Given the description of an element on the screen output the (x, y) to click on. 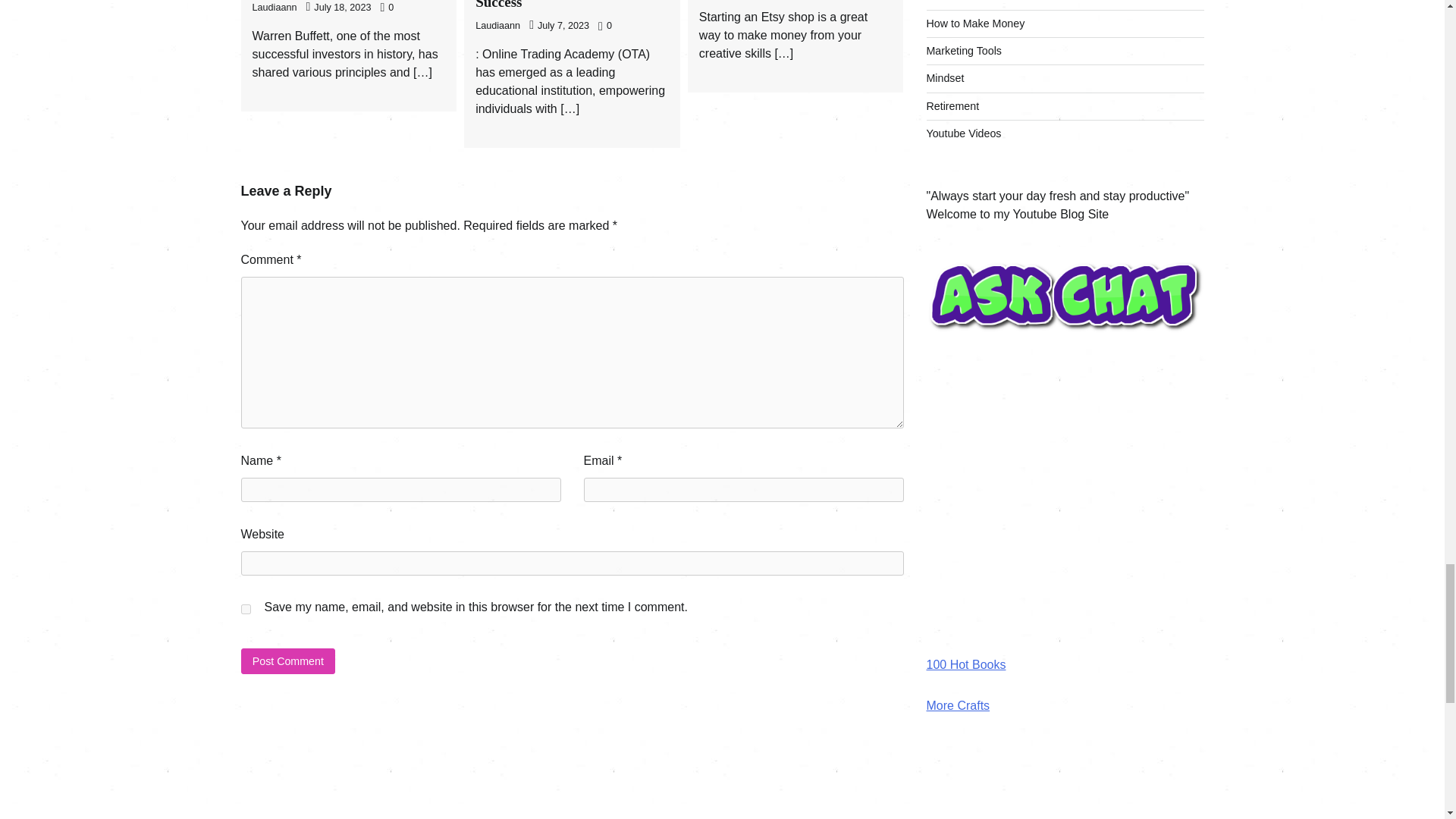
Post Comment (288, 660)
Post Comment (288, 660)
Online Trading Academy: Empowering Traders for Success (555, 4)
yes (245, 609)
Laudiaann (497, 25)
Laudiaann (274, 7)
